Given the description of an element on the screen output the (x, y) to click on. 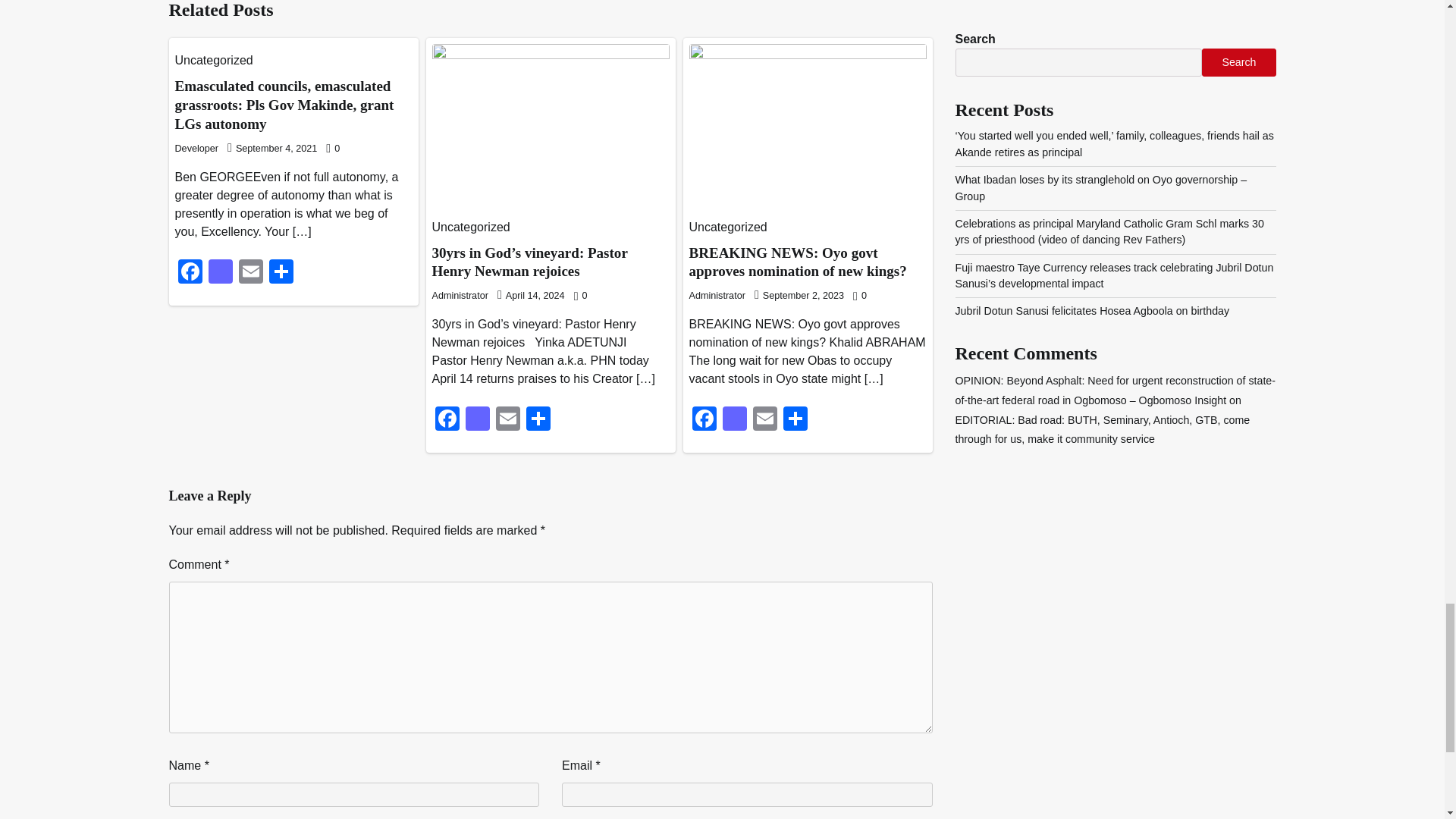
Facebook (189, 273)
Mastodon (734, 420)
Facebook (189, 273)
Administrator (459, 295)
Email (507, 420)
Email (249, 273)
Facebook (447, 420)
Facebook (703, 420)
Mastodon (478, 420)
